Given the description of an element on the screen output the (x, y) to click on. 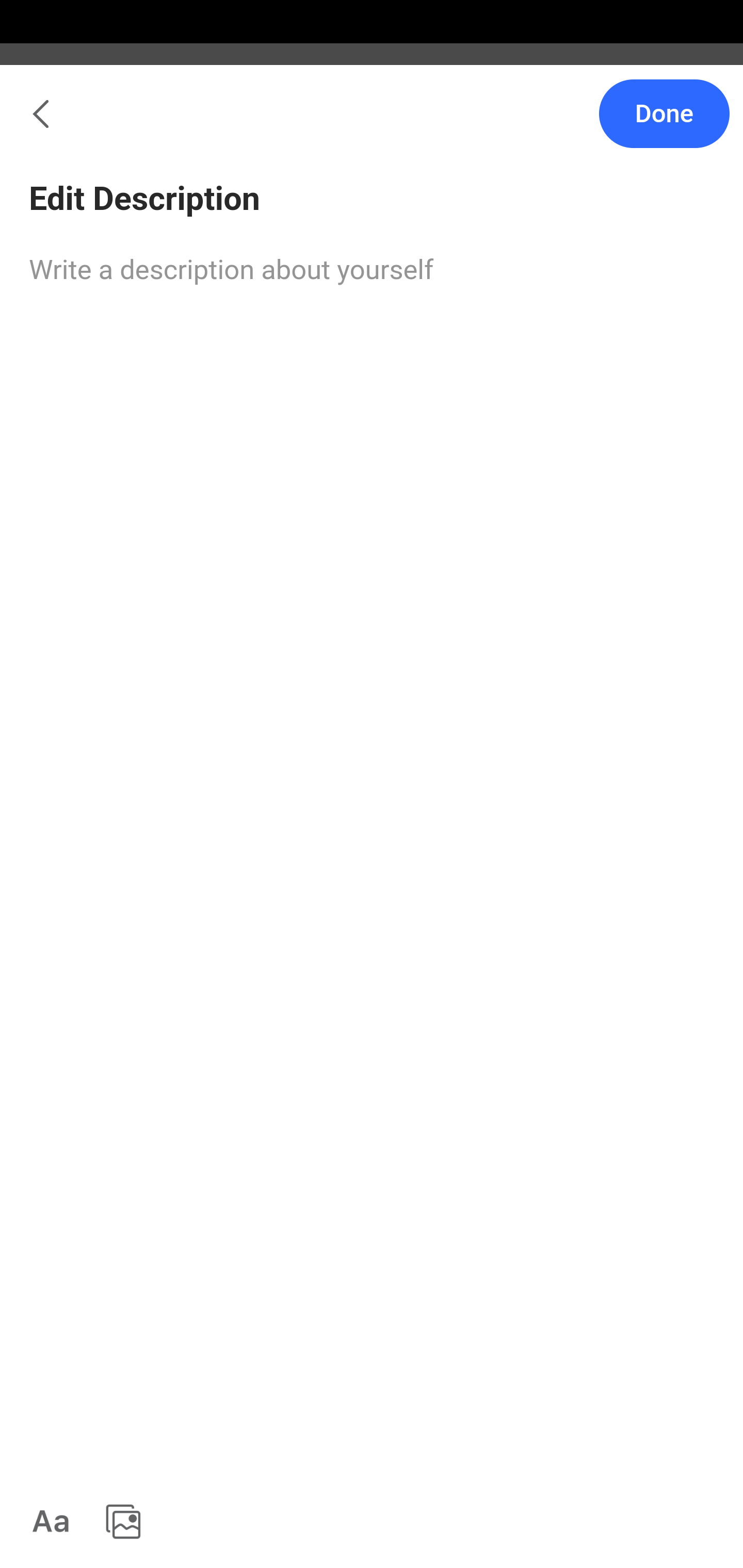
Back Edit Profile (371, 125)
Back (30, 125)
Profile photo for Test Appium Edit photo (371, 209)
Edit name Test Appium (371, 304)
Edit profile credential (371, 395)
Edit bio (371, 476)
